Given the description of an element on the screen output the (x, y) to click on. 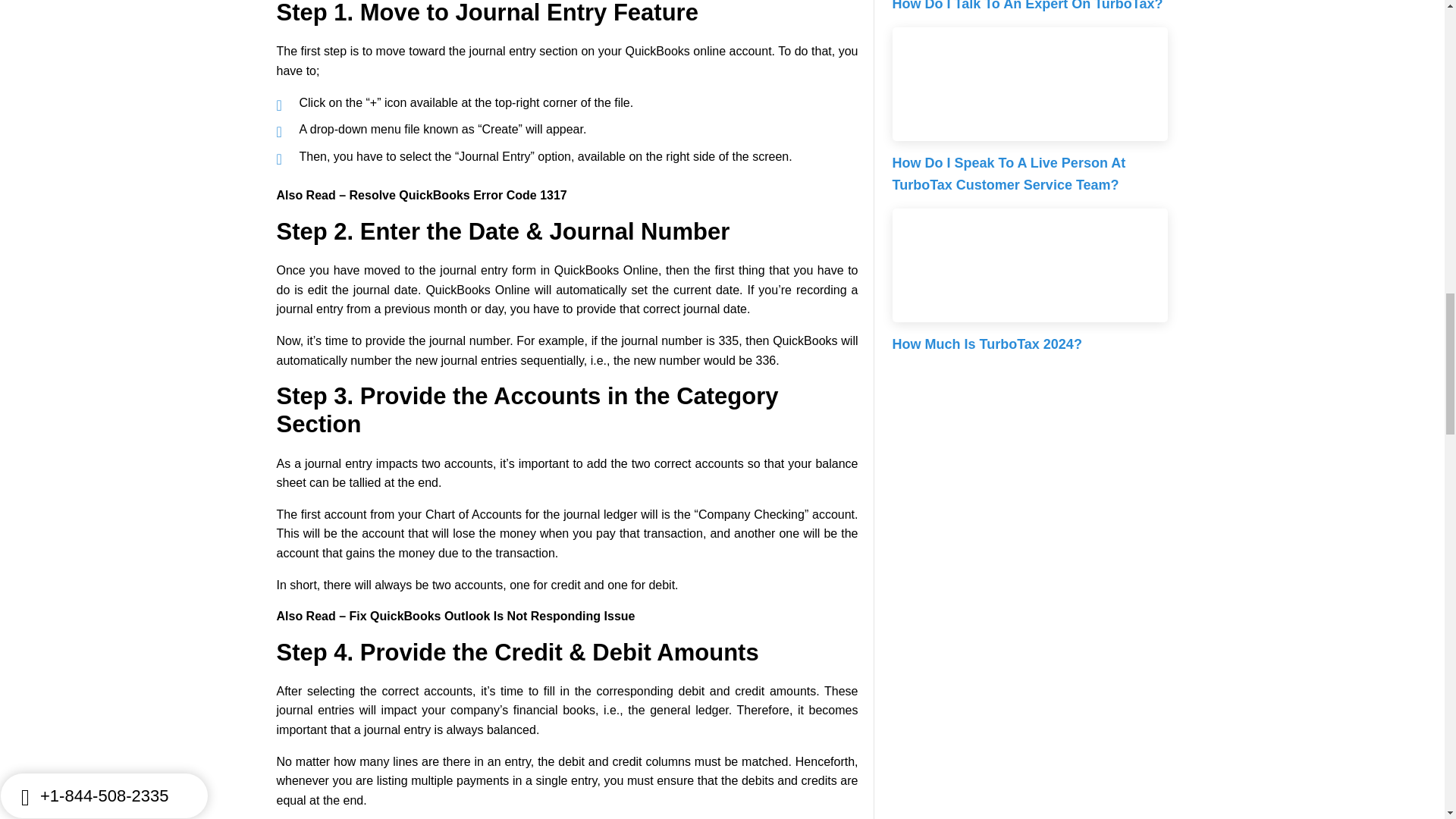
Fix QuickBooks Outlook Is Not Responding Issue (491, 615)
Resolve QuickBooks Error Code 1317 (458, 195)
